Given the description of an element on the screen output the (x, y) to click on. 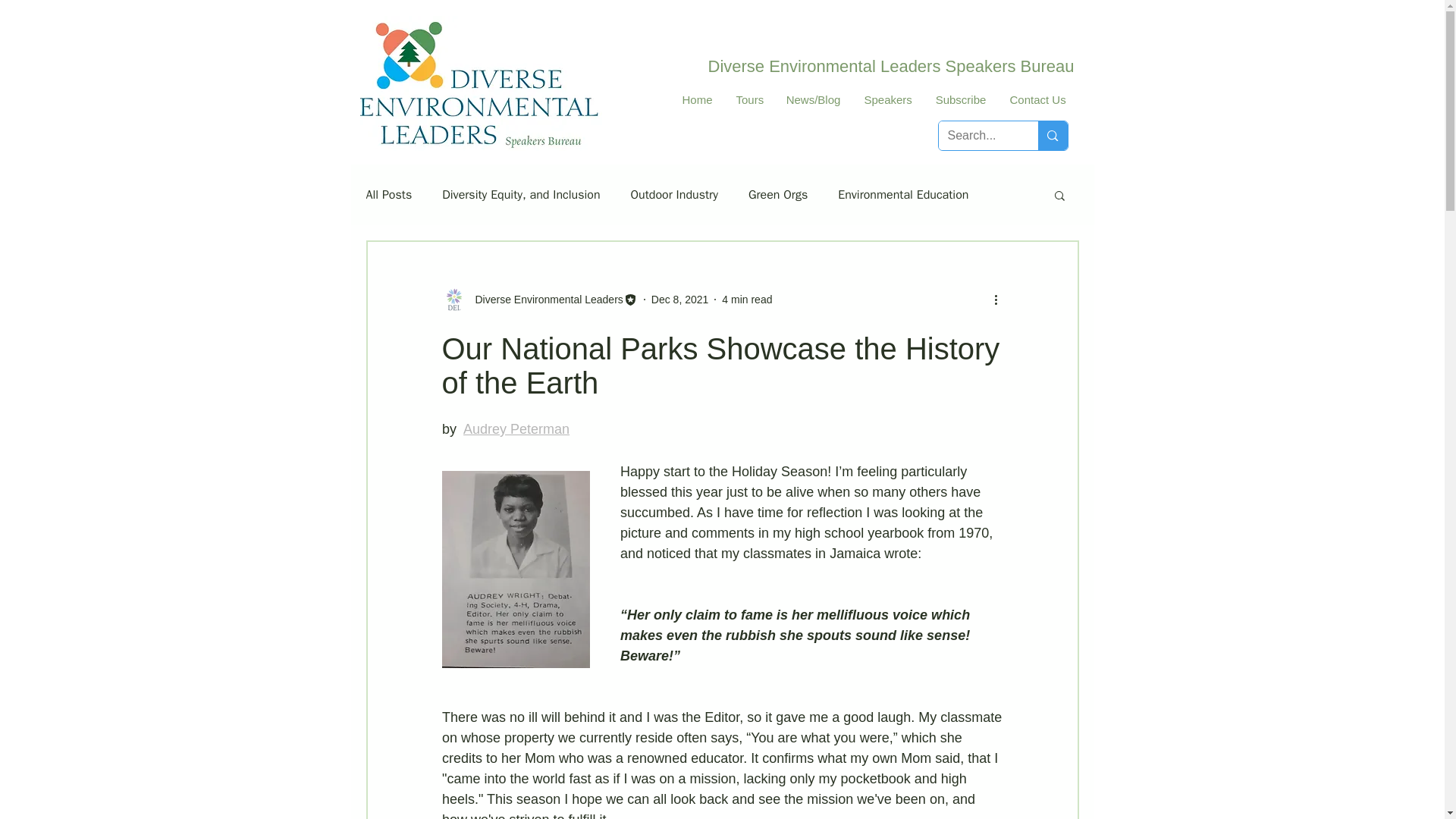
Subscribe (960, 99)
Diverse Environmental Leaders (544, 299)
Home (696, 99)
Diverse Environmental Leaders (539, 299)
Tours (748, 99)
Audrey Peterman (516, 428)
Contact Us (1037, 99)
Speakers (887, 99)
Outdoor Industry (673, 194)
All Posts (388, 194)
